Given the description of an element on the screen output the (x, y) to click on. 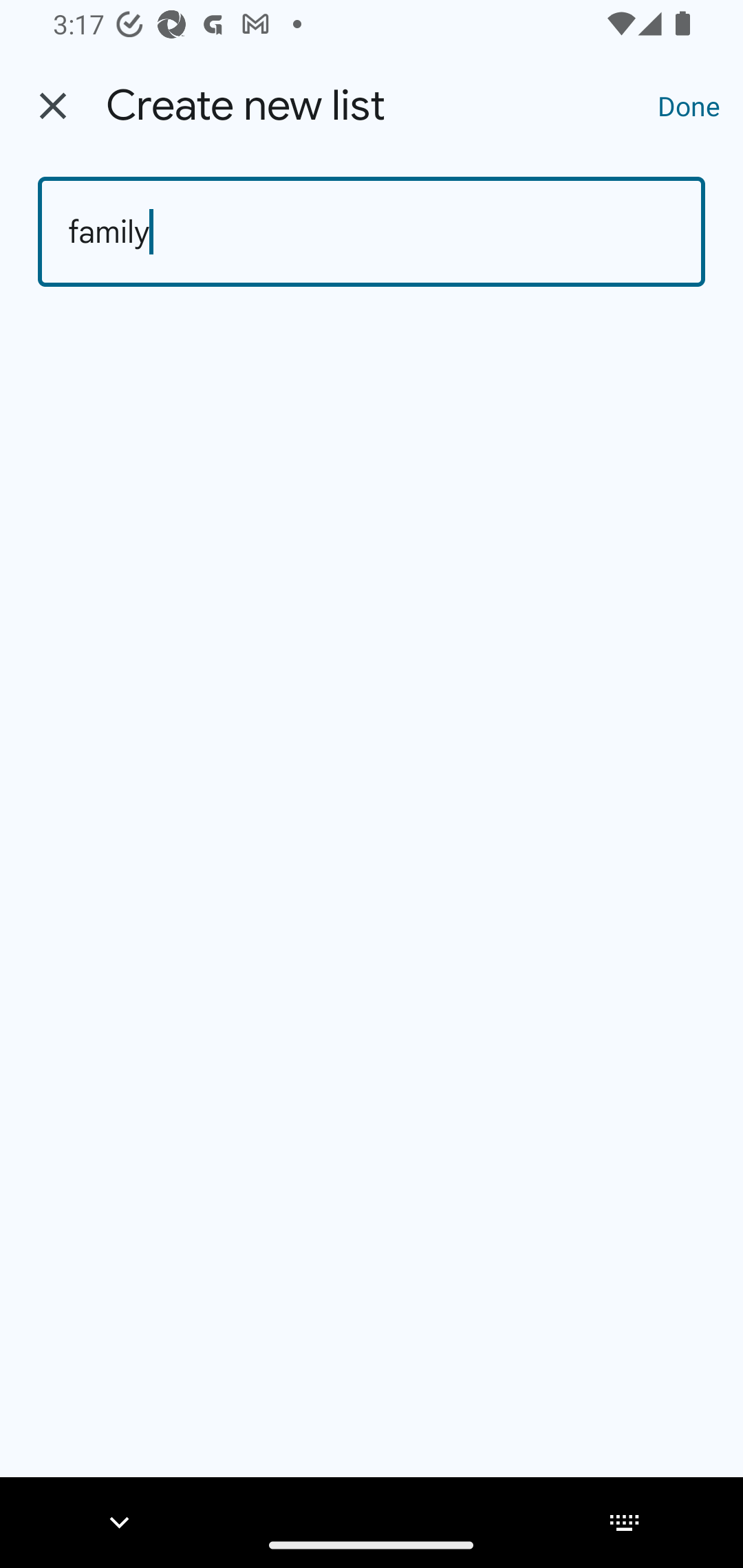
Back (53, 105)
Done (689, 105)
family (371, 231)
